Given the description of an element on the screen output the (x, y) to click on. 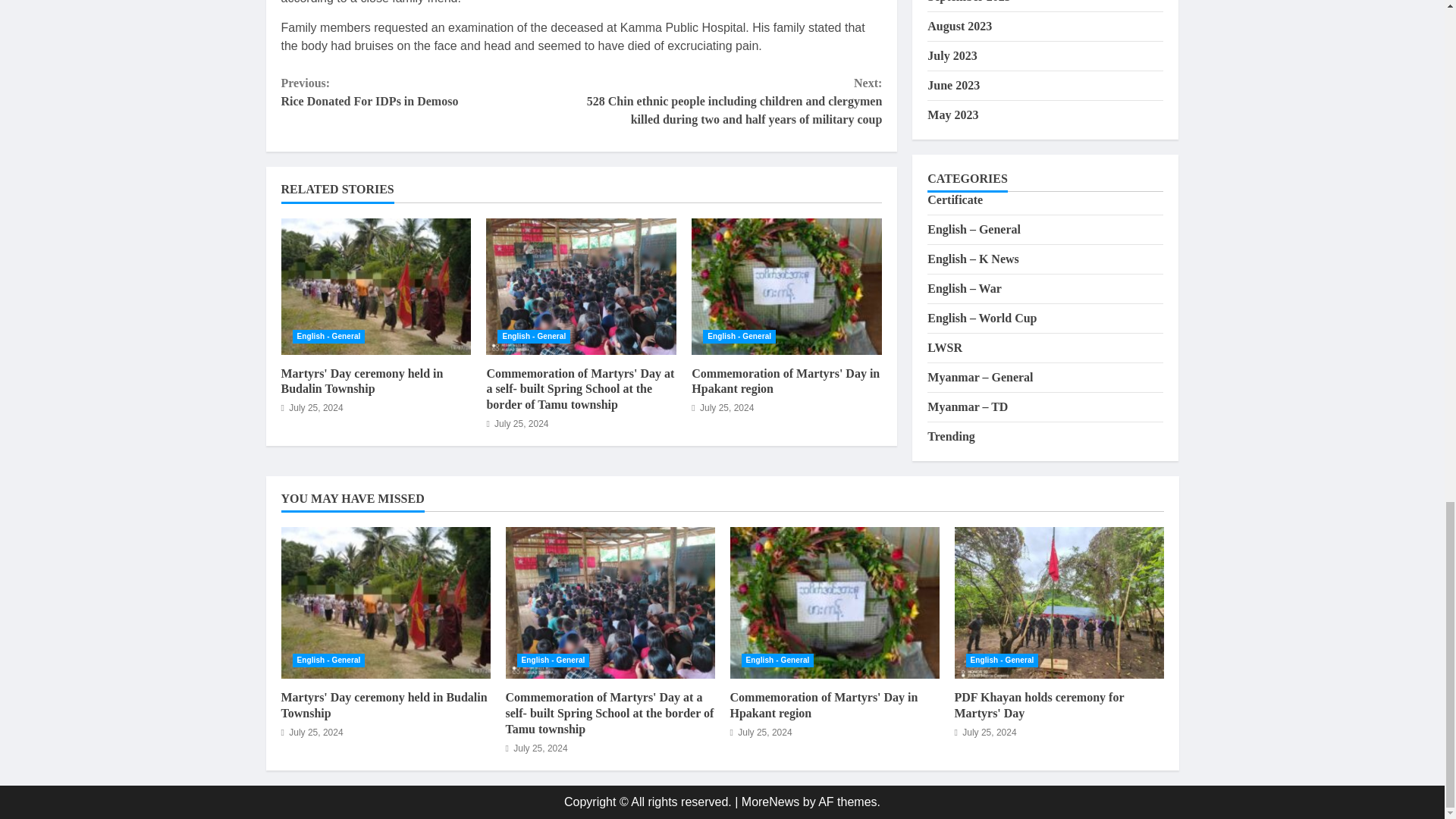
English - General (739, 336)
Commemoration of Martyrs' Day in Hpakant region (786, 286)
English - General (430, 92)
Commemoration of Martyrs' Day in Hpakant region (328, 336)
Martyrs' Day ceremony held in Budalin Township (785, 380)
Martyrs' Day ceremony held in Budalin Township (375, 286)
English - General (361, 380)
